Given the description of an element on the screen output the (x, y) to click on. 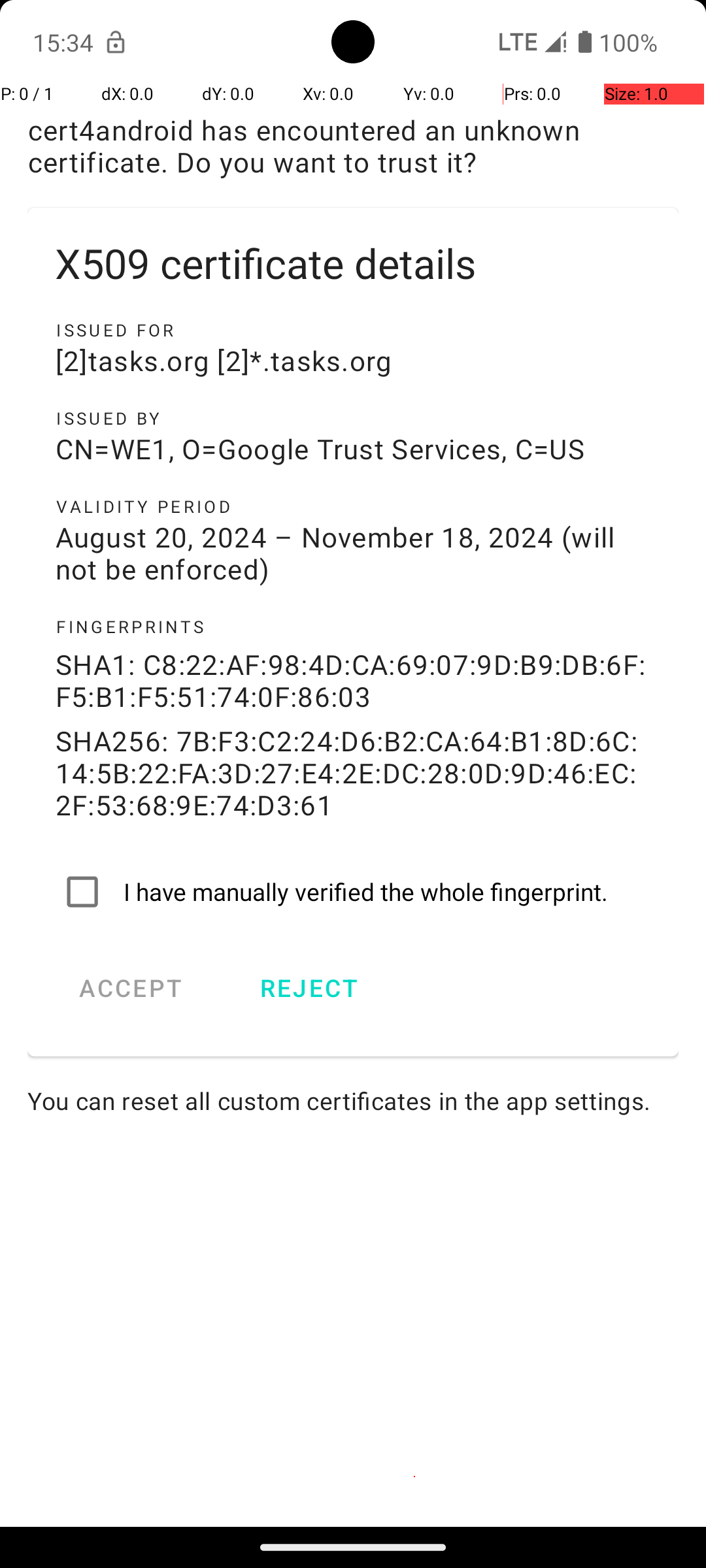
cert4android has encountered an unknown certificate. Do you want to trust it? Element type: android.widget.TextView (352, 145)
X509 certificate details Element type: android.widget.TextView (352, 262)
ISSUED FOR Element type: android.widget.TextView (352, 329)
[2]tasks.org [2]*.tasks.org  Element type: android.widget.TextView (352, 359)
ISSUED BY Element type: android.widget.TextView (352, 417)
CN=WE1, O=Google Trust Services, C=US Element type: android.widget.TextView (352, 448)
VALIDITY PERIOD Element type: android.widget.TextView (352, 506)
August 20, 2024 – November 18, 2024 (will not be enforced) Element type: android.widget.TextView (352, 552)
FINGERPRINTS Element type: android.widget.TextView (352, 626)
SHA1: C8:22:AF:98:4D:CA:69:07:9D:B9:DB:6F:F5:B1:F5:51:74:0F:86:03 Element type: android.widget.TextView (352, 679)
SHA256: 7B:F3:C2:24:D6:B2:CA:64:B1:8D:6C:14:5B:22:FA:3D:27:E4:2E:DC:28:0D:9D:46:EC:2F:53:68:9E:74:D3:61 Element type: android.widget.TextView (352, 772)
I have manually verified the whole fingerprint. Element type: android.widget.CheckBox (352, 891)
ACCEPT Element type: android.widget.Button (129, 987)
REJECT Element type: android.widget.Button (308, 987)
You can reset all custom certificates in the app settings. Element type: android.widget.TextView (352, 1100)
